Given the description of an element on the screen output the (x, y) to click on. 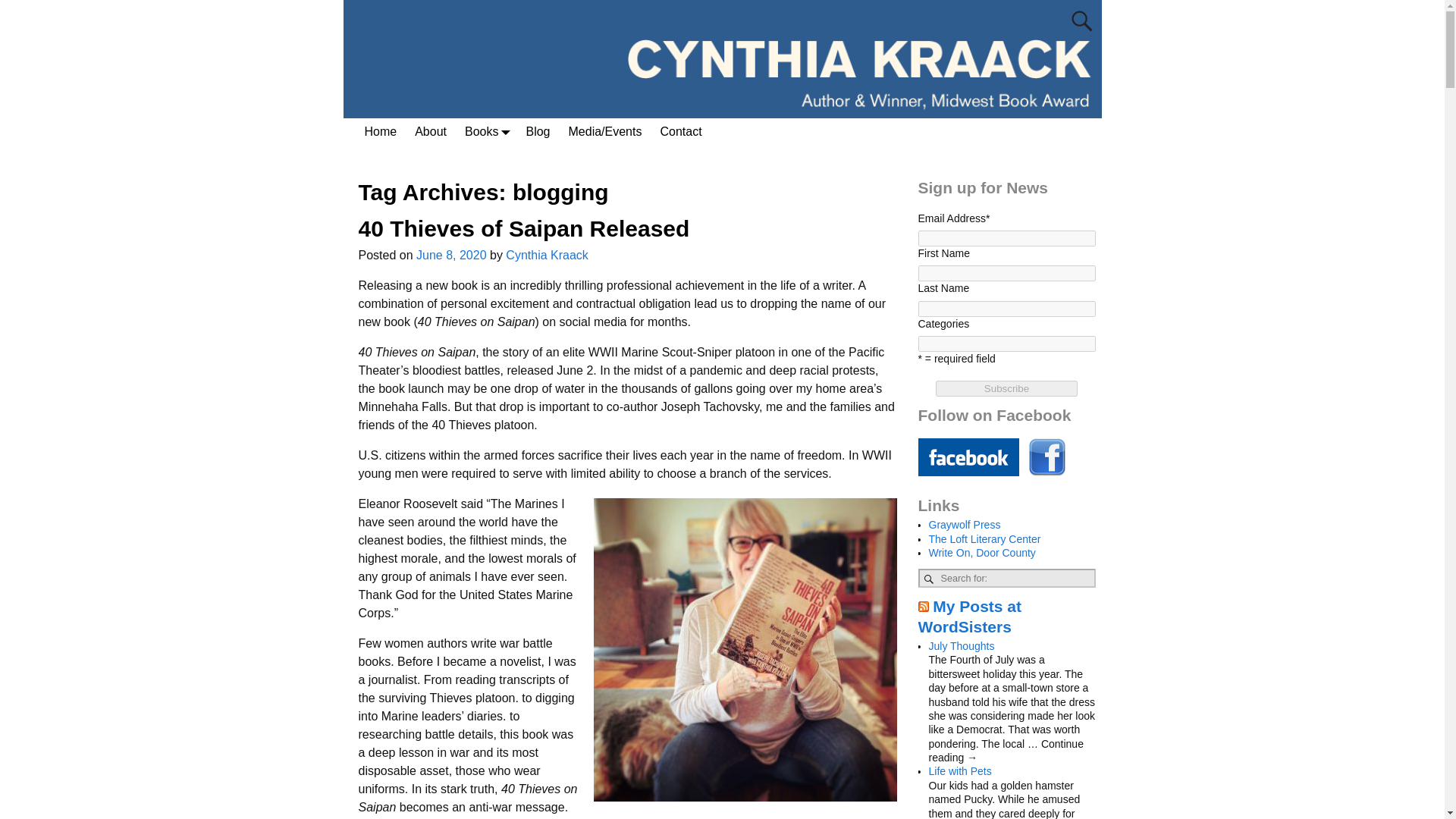
9:05 am (451, 254)
View all posts by Cynthia Kraack (546, 254)
Permalink to 40 Thieves of Saipan Released (523, 228)
Subscribe (1006, 388)
40 Thieves of Saipan Released (523, 228)
Books (485, 130)
Home (380, 130)
Blog (537, 130)
Contact (680, 130)
June 8, 2020 (451, 254)
About (430, 130)
Cynthia Kraack (546, 254)
